Given the description of an element on the screen output the (x, y) to click on. 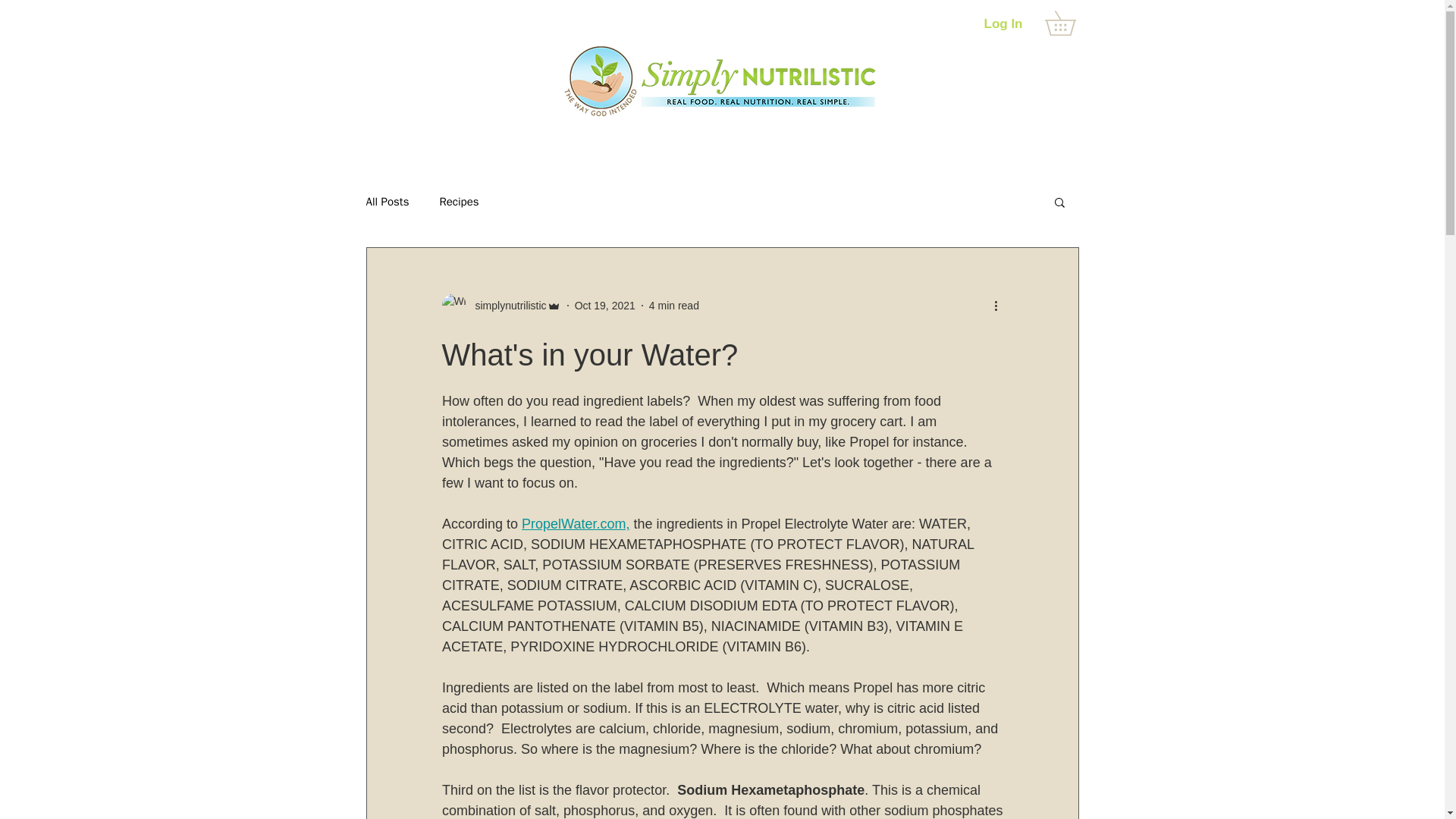
PropelWater.com, (574, 523)
simplynutrilistic (505, 304)
simplynutrilistic (500, 305)
4 min read (673, 304)
All Posts (387, 201)
Log In (1003, 23)
Oct 19, 2021 (604, 304)
Recipes (459, 201)
